Given the description of an element on the screen output the (x, y) to click on. 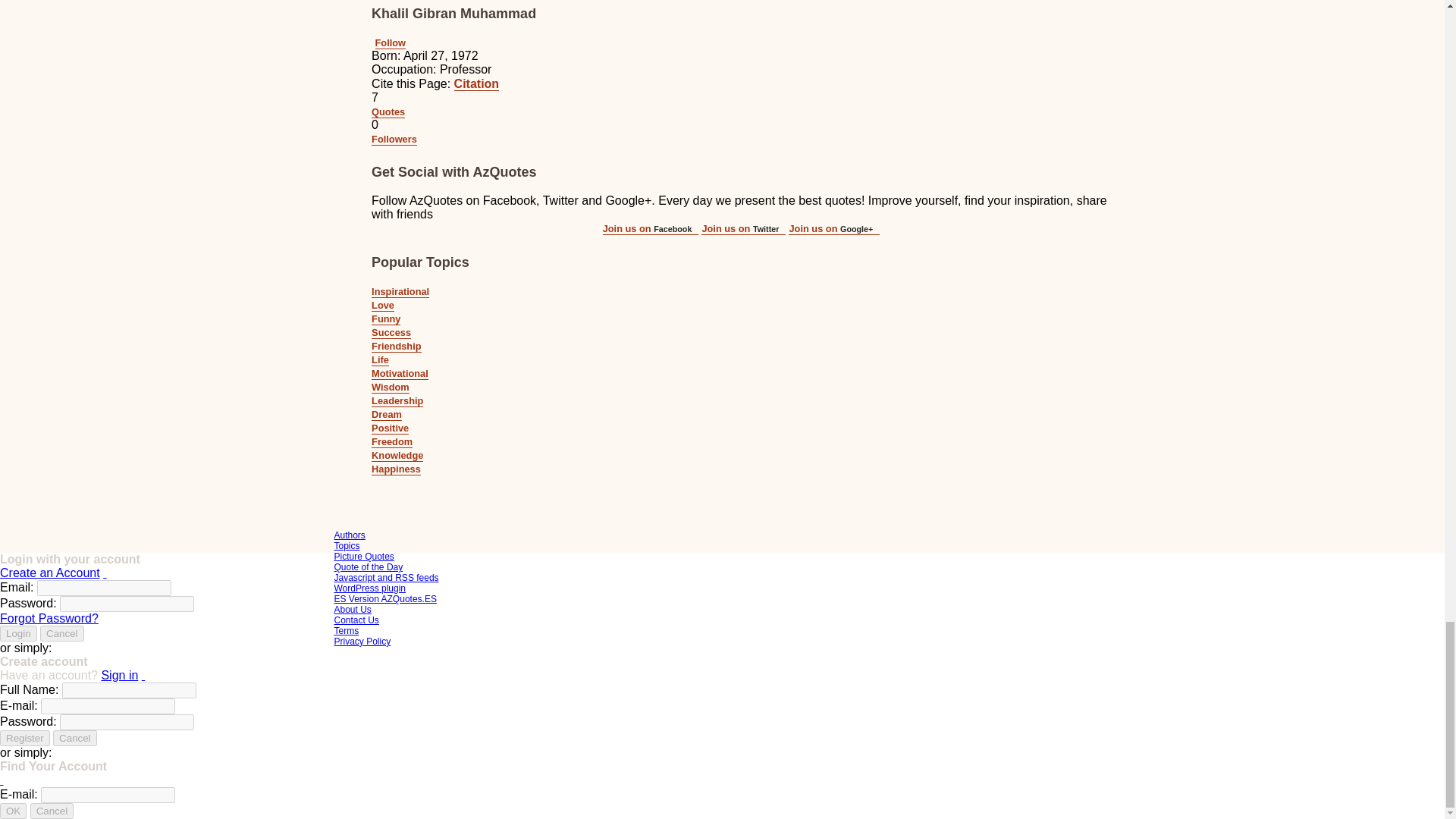
Register (24, 738)
Cancel (74, 738)
Cancel (62, 633)
Login (18, 633)
